Given the description of an element on the screen output the (x, y) to click on. 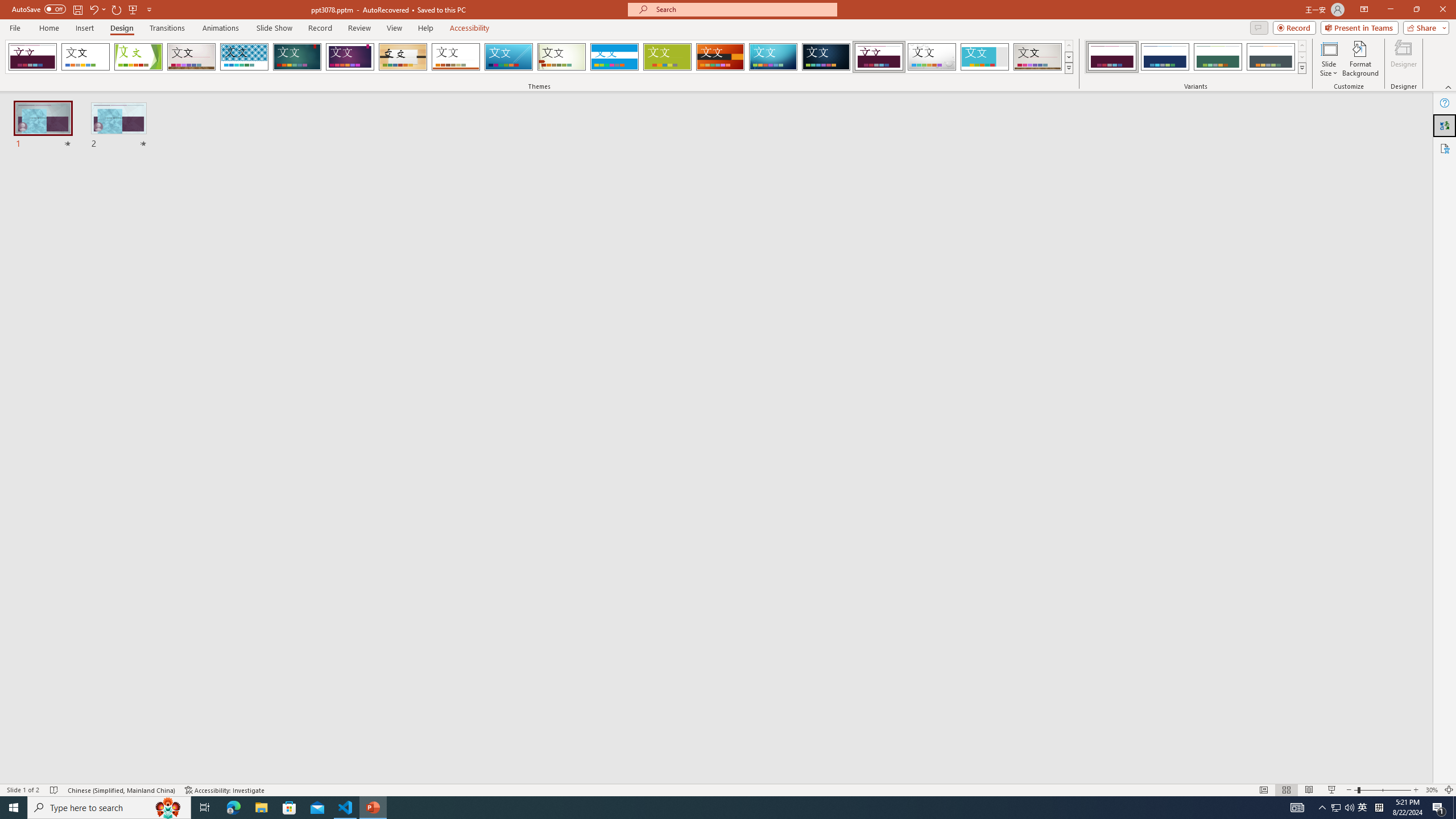
Banded (614, 56)
Organic (403, 56)
